Given the description of an element on the screen output the (x, y) to click on. 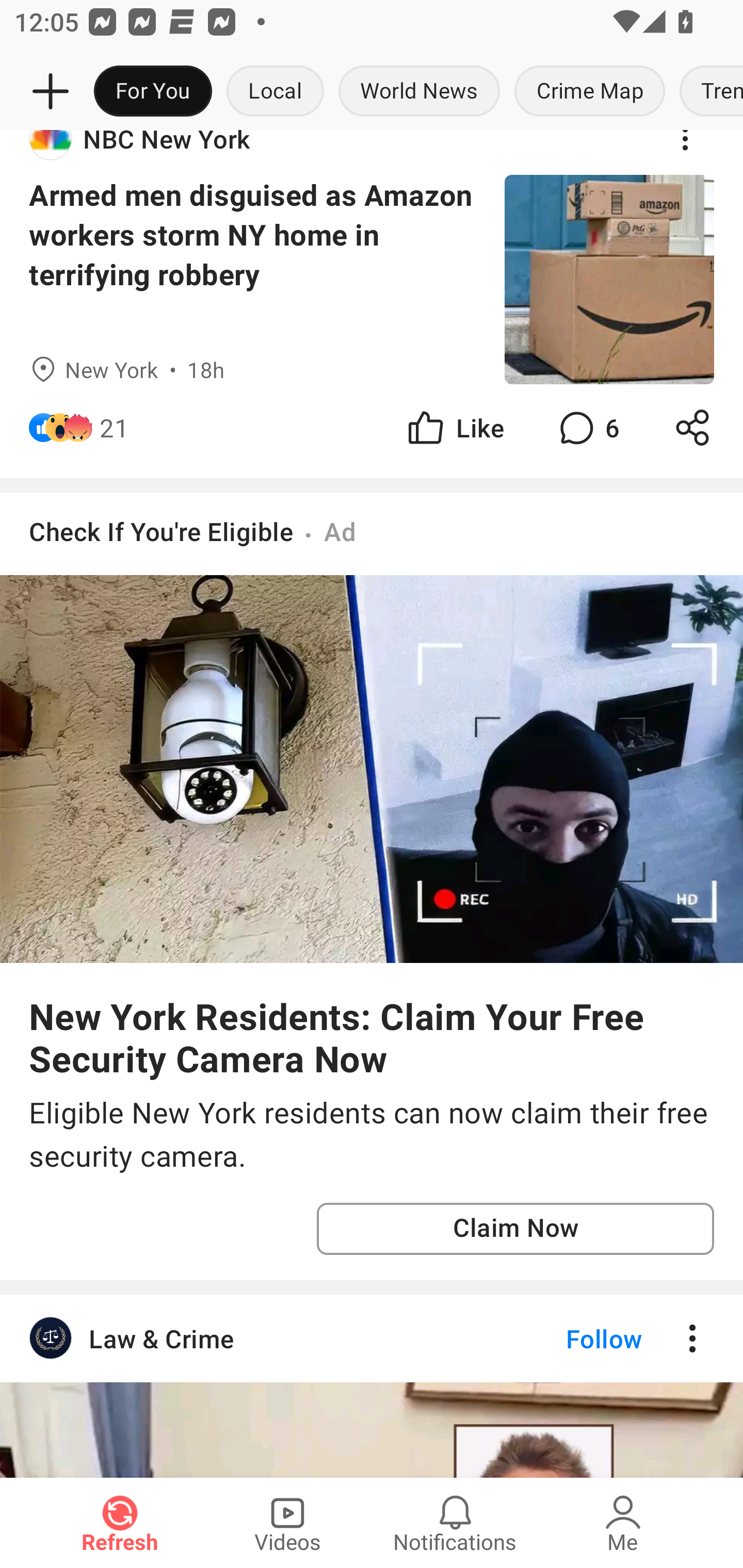
For You (152, 91)
Local (275, 91)
World News (419, 91)
Crime Map (589, 91)
21 (114, 427)
Like (454, 427)
6 (587, 427)
Check If You're Eligible (160, 531)
Claim Now (515, 1228)
Law & Crime Follow (371, 1338)
Follow (569, 1338)
Videos (287, 1522)
Notifications (455, 1522)
Me (622, 1522)
